Given the description of an element on the screen output the (x, y) to click on. 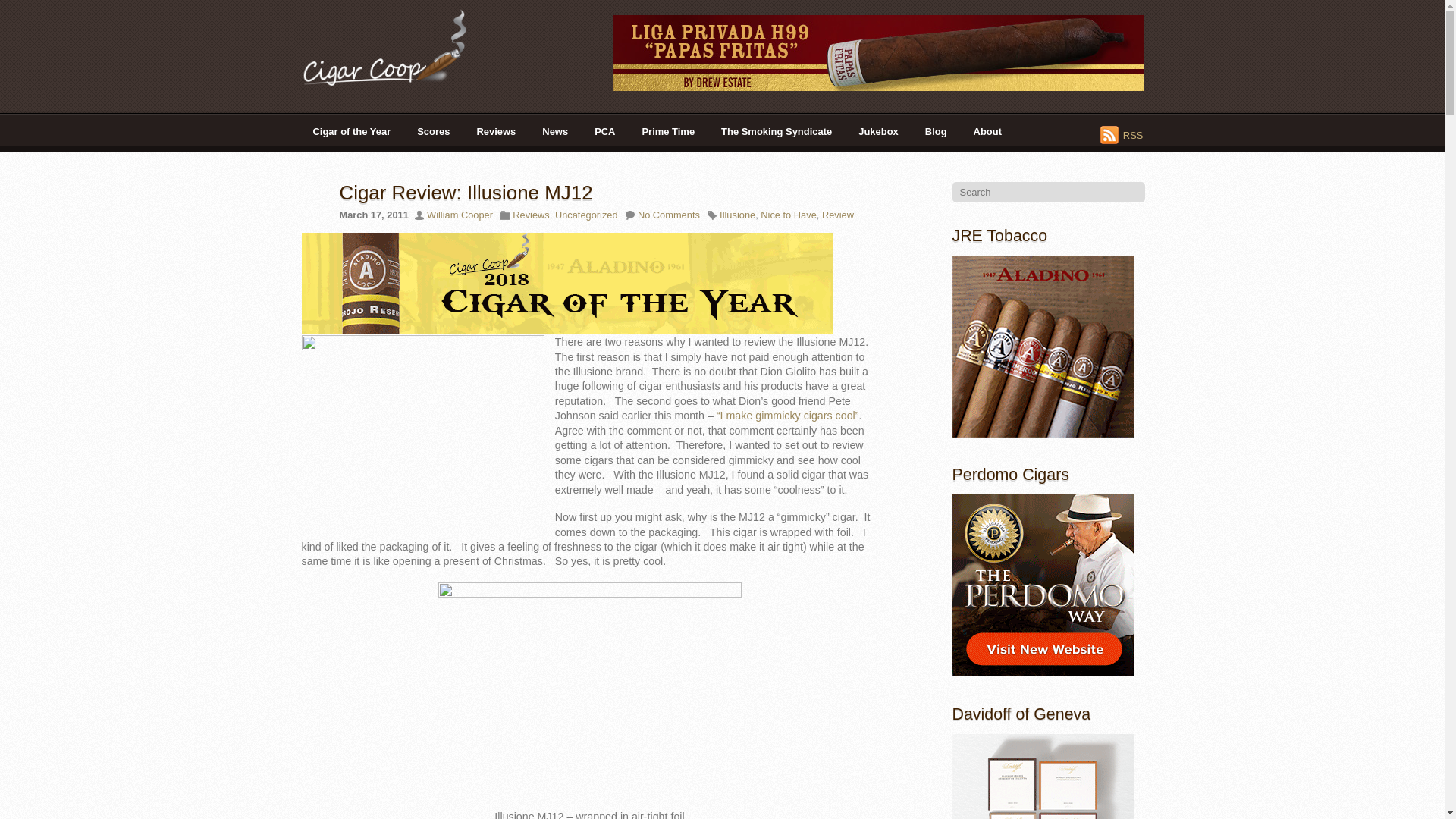
Scores (433, 131)
Cigar Coop (396, 79)
Cigar of the Year (352, 131)
Reviews (495, 131)
Cigar Review: Illusione MJ12 (465, 192)
Cigar Coop (396, 46)
News (555, 131)
